Given the description of an element on the screen output the (x, y) to click on. 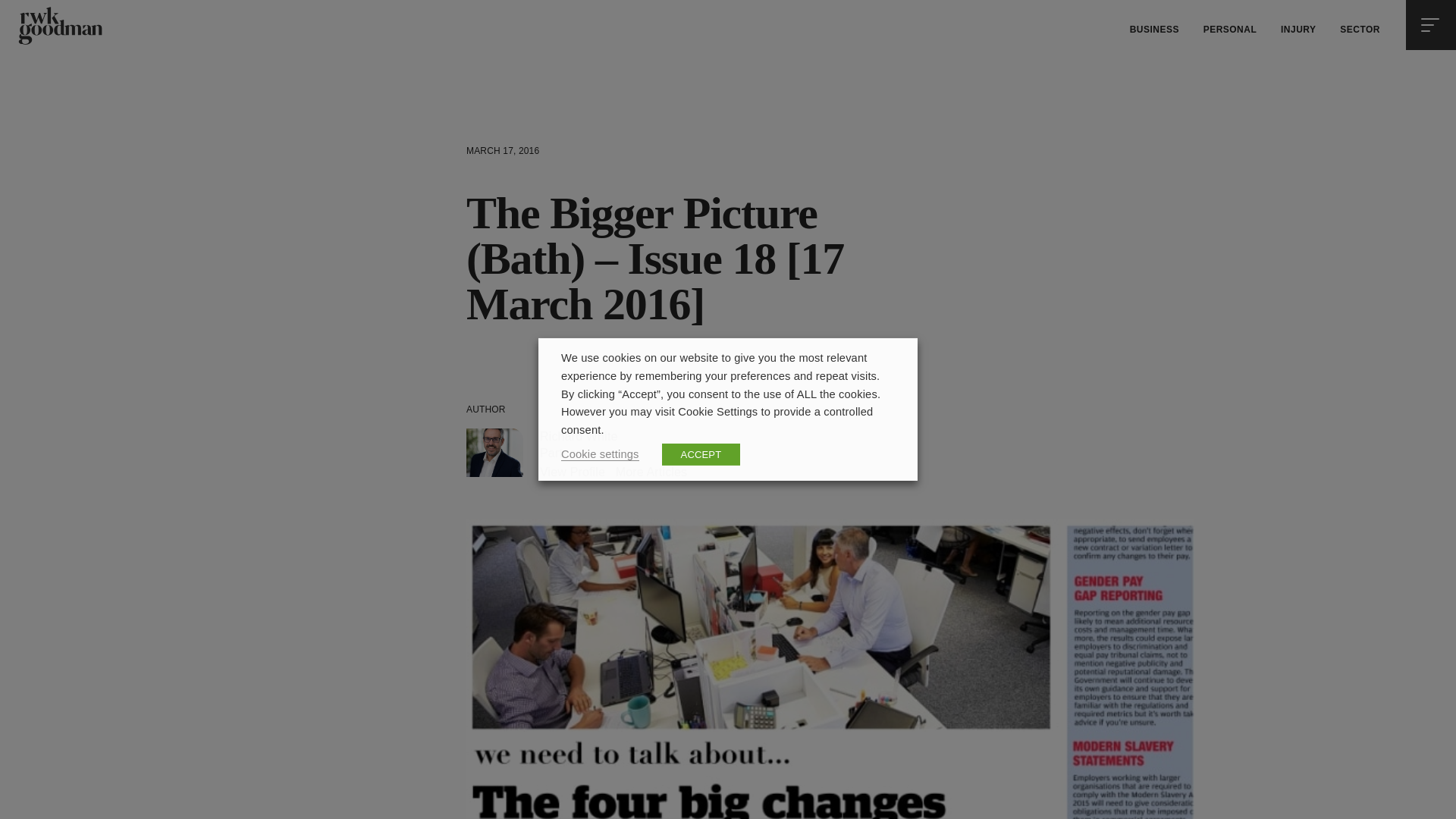
PERSONAL (1230, 30)
Royds Withy King (59, 25)
INJURY (1297, 30)
SECTOR (1359, 30)
BUSINESS (1154, 30)
